Given the description of an element on the screen output the (x, y) to click on. 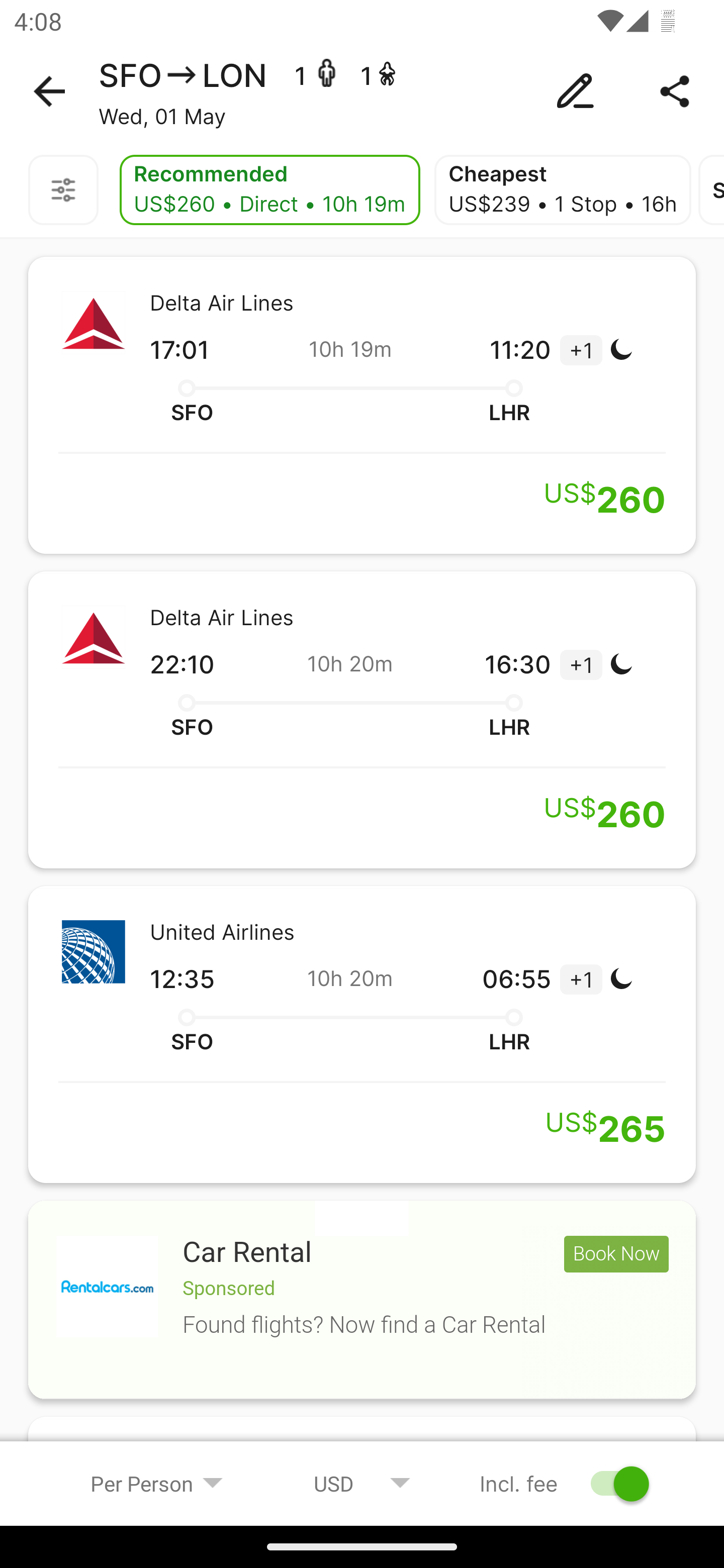
SFO LON   1 -   1 - Wed, 01 May (361, 91)
Recommended  US$260 • Direct • 10h 19m (269, 190)
Cheapest US$239 • 1 Stop • 16h (562, 190)
Delta Air Lines 17:01 10h 19m 11:20 SFO LHR +1 (361, 405)
Delta Air Lines 22:10 10h 20m 16:30 SFO LHR +1 (361, 719)
United Airlines 12:35 10h 20m 06:55 SFO LHR +1 (361, 1033)
Per Person (156, 1482)
USD (361, 1482)
